Given the description of an element on the screen output the (x, y) to click on. 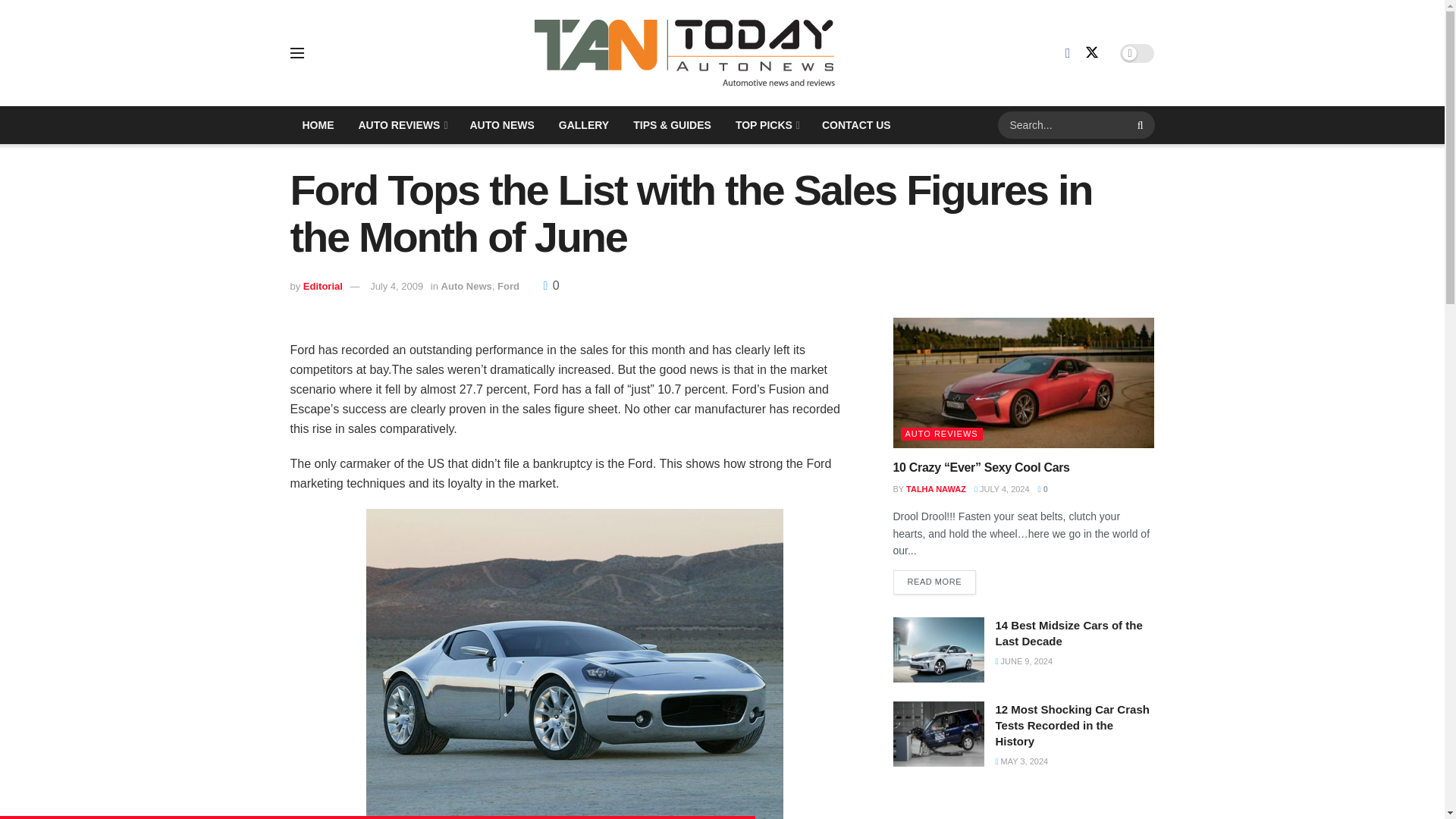
HOME (317, 125)
Ford Tops the List with the Sales Figures in the Month (574, 663)
AUTO REVIEWS (401, 125)
